Given the description of an element on the screen output the (x, y) to click on. 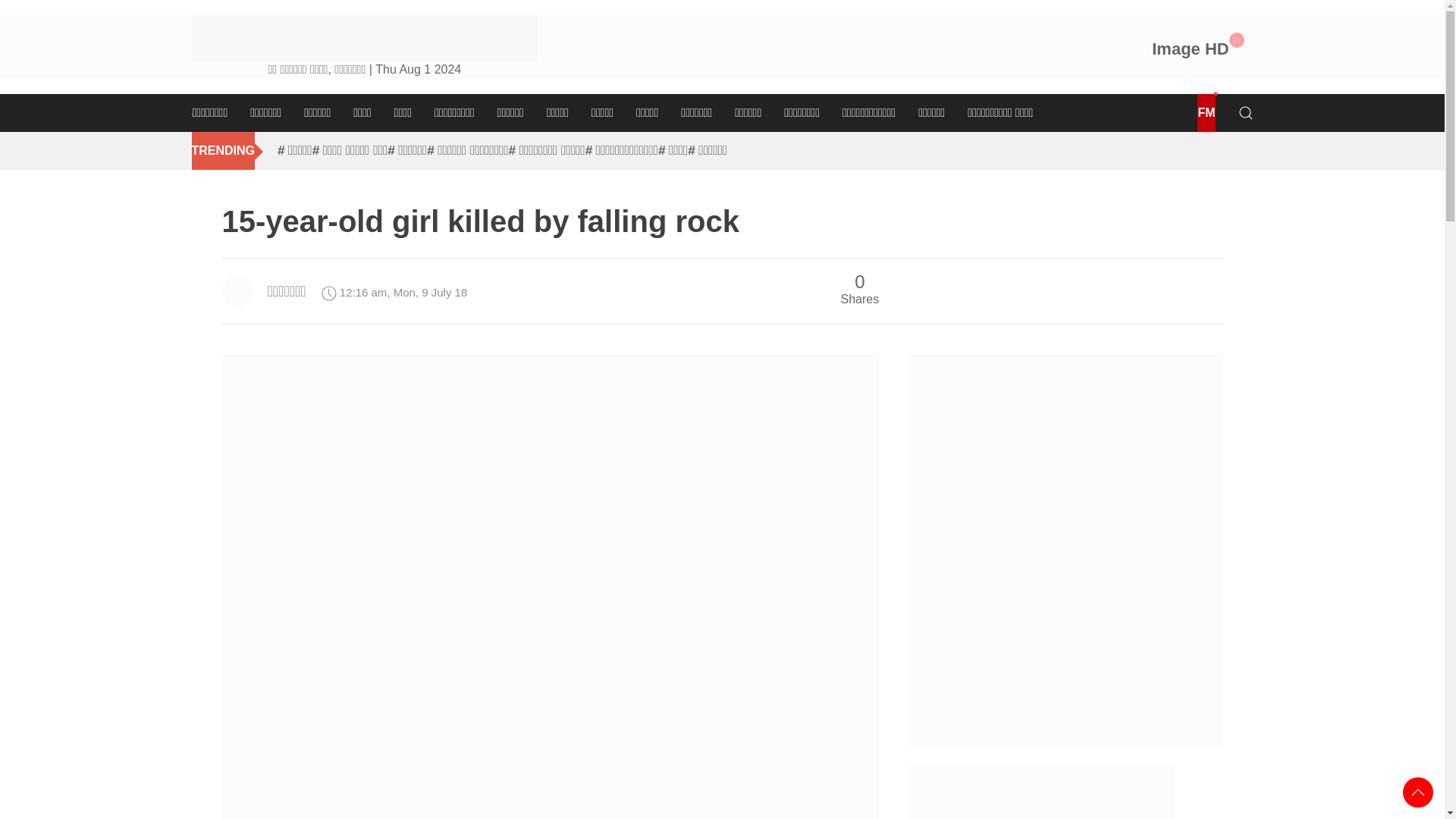
TRENDING (222, 150)
